Given the description of an element on the screen output the (x, y) to click on. 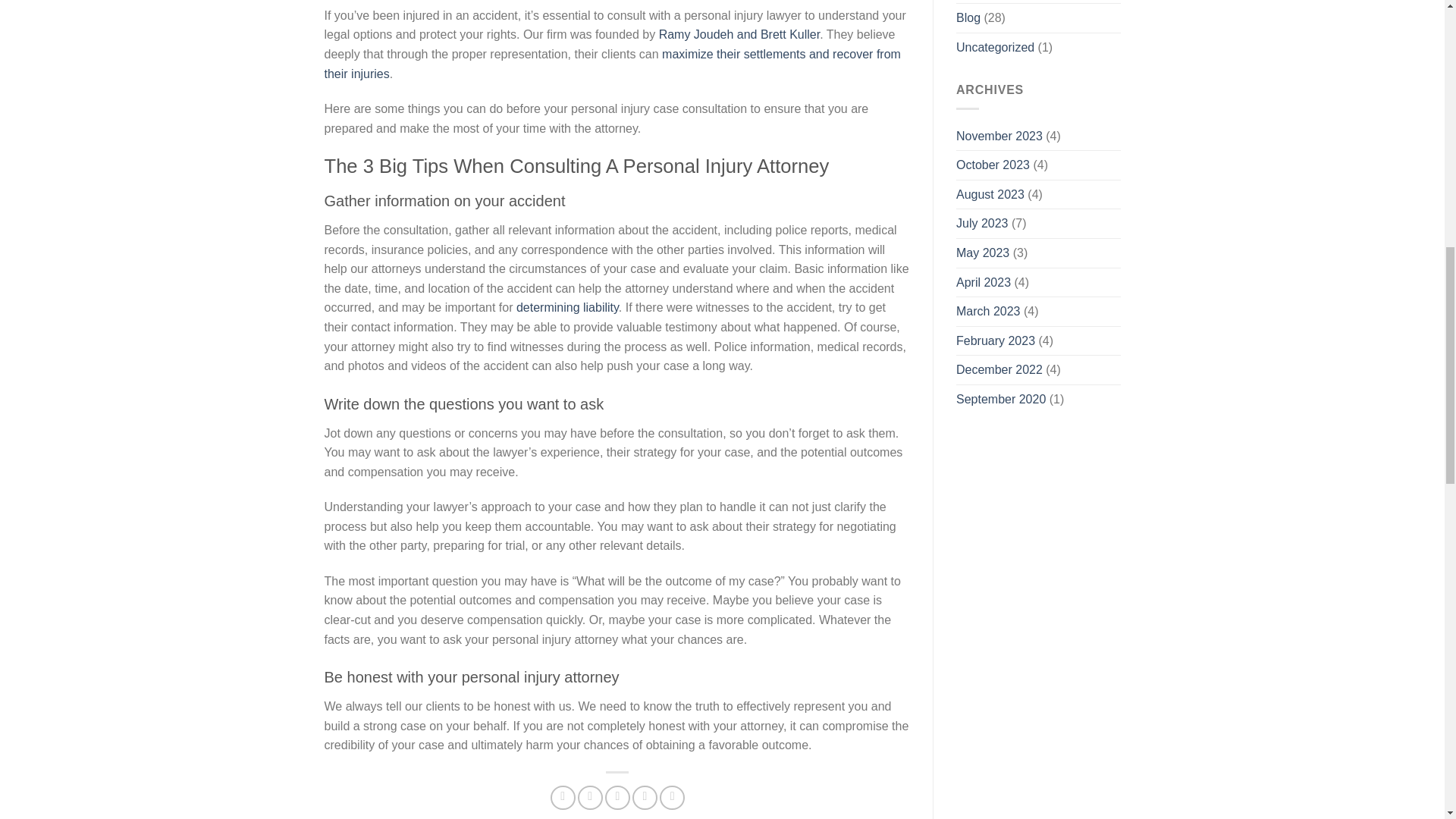
maximize their settlements and recover from their injuries (612, 63)
Pin on Pinterest (644, 797)
Email to a Friend (617, 797)
Share on LinkedIn (671, 797)
Ramy Joudeh and Brett Kuller (740, 33)
Share on Facebook (562, 797)
determining liability (567, 307)
Share on Twitter (590, 797)
